Given the description of an element on the screen output the (x, y) to click on. 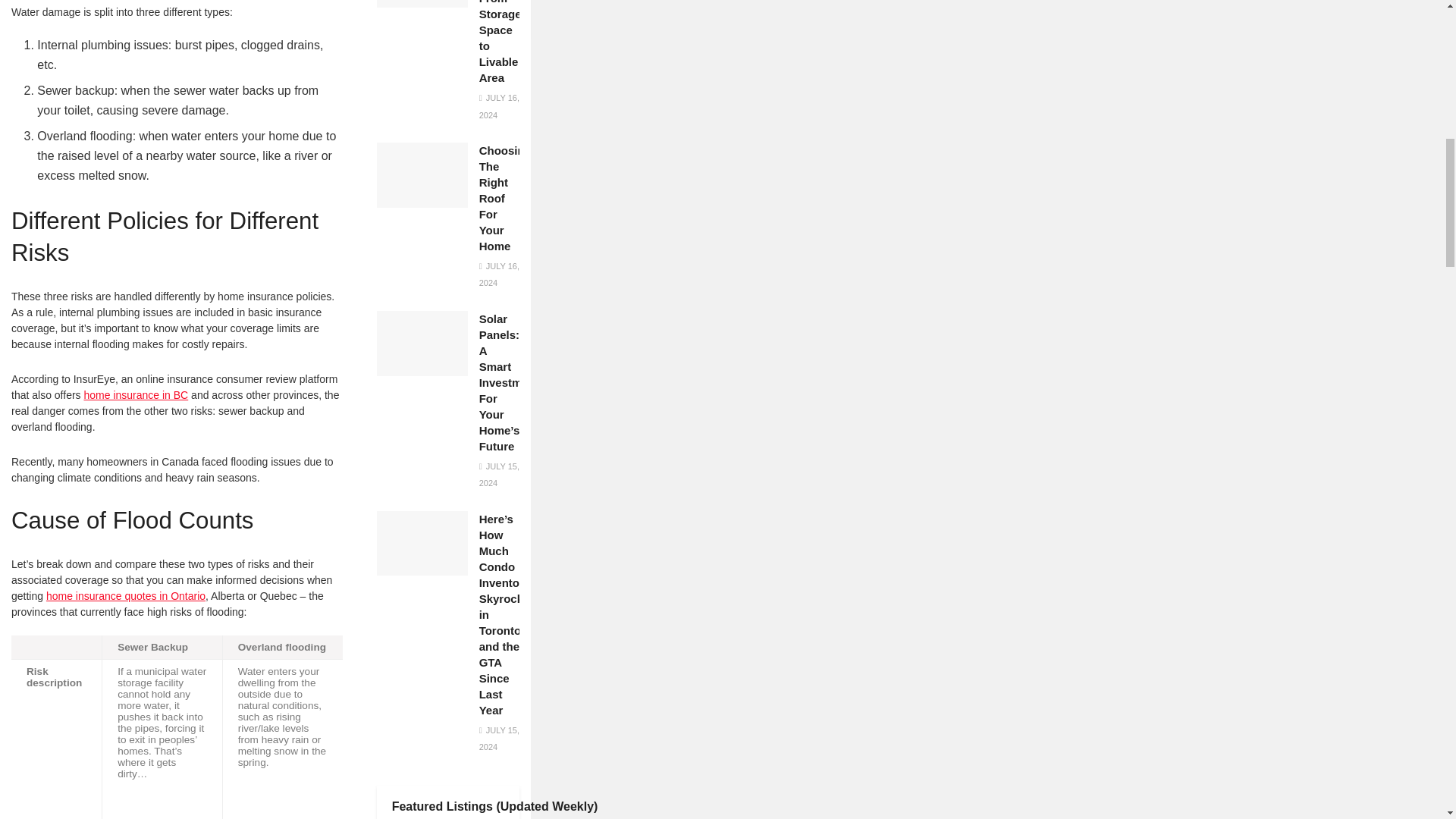
home insurance in BC (134, 394)
home insurance quotes in Ontario (125, 595)
